Given the description of an element on the screen output the (x, y) to click on. 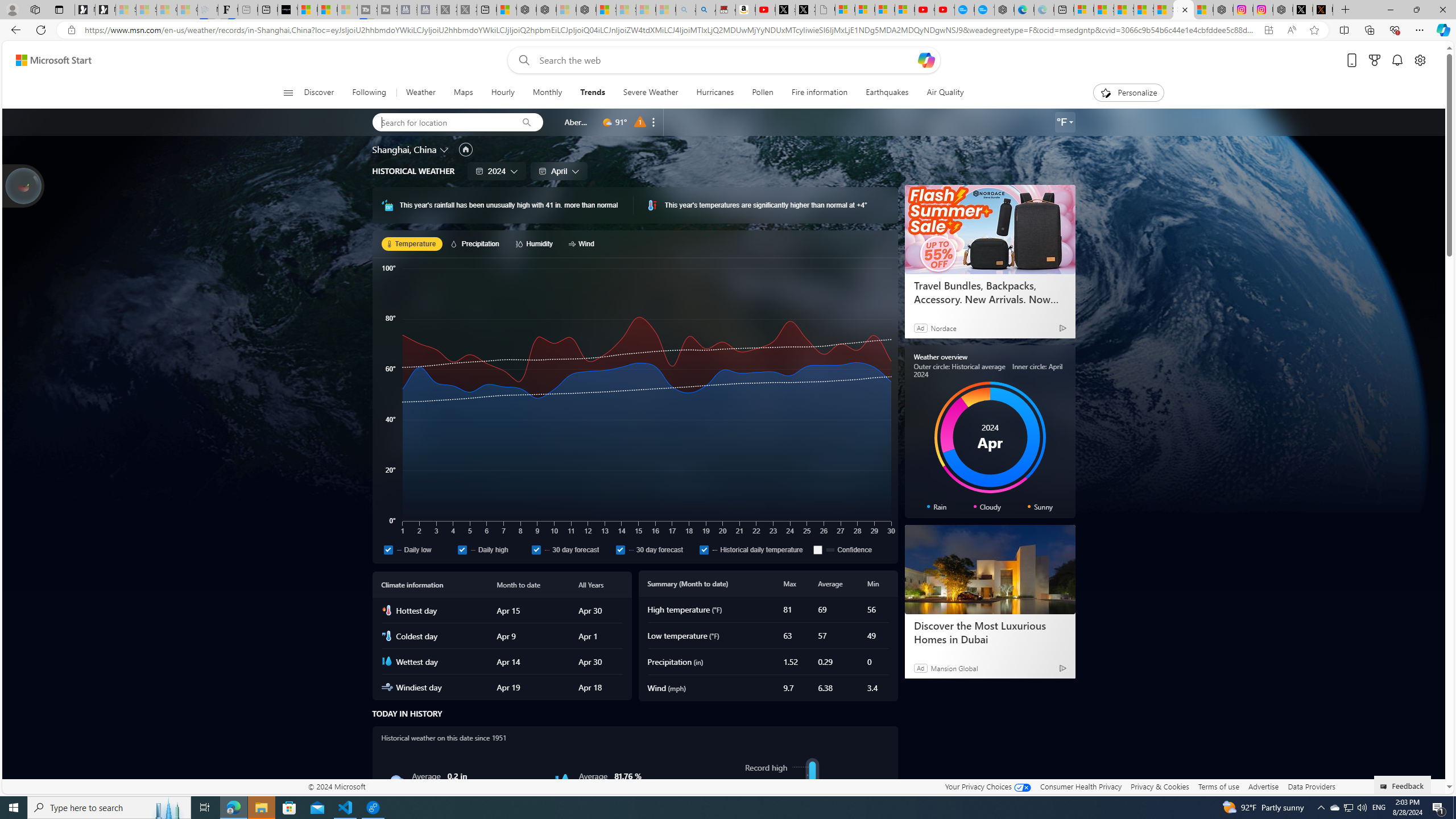
Nordace (@NordaceOfficial) / X (1302, 9)
Day 1: Arriving in Yemen (surreal to be here) - YouTube (765, 9)
Wind (582, 243)
Discover the Most Luxurious Homes in Dubai (988, 632)
Monthly (547, 92)
Historical daily temperature (703, 549)
April (558, 170)
Untitled (825, 9)
Your Privacy Choices (987, 786)
Shanghai, China Weather trends | Microsoft Weather (1183, 9)
